Given the description of an element on the screen output the (x, y) to click on. 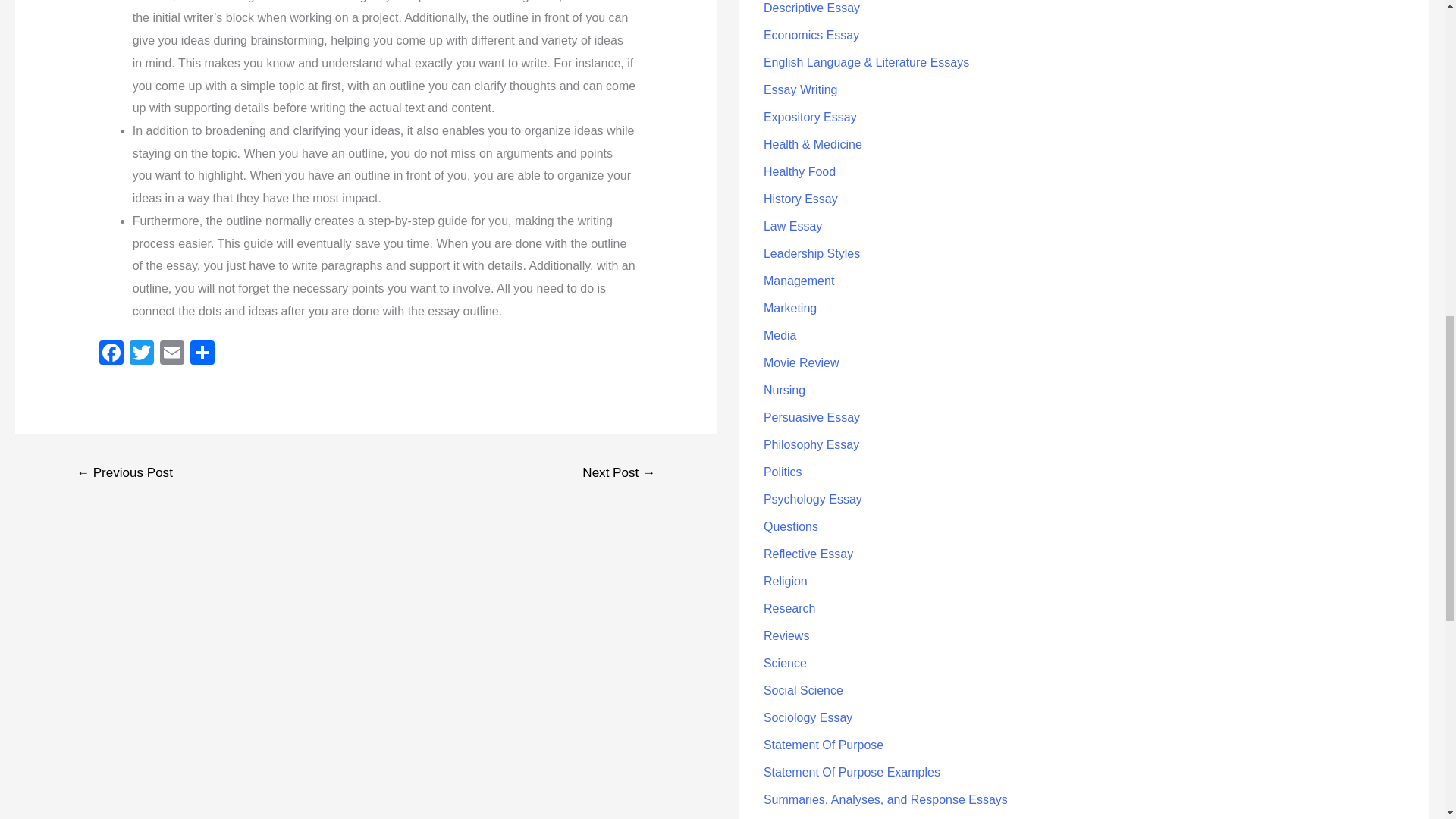
Facebook (111, 354)
Twitter (141, 354)
Share (201, 354)
Email (172, 354)
Facebook (111, 354)
Email (172, 354)
Twitter (141, 354)
